Given the description of an element on the screen output the (x, y) to click on. 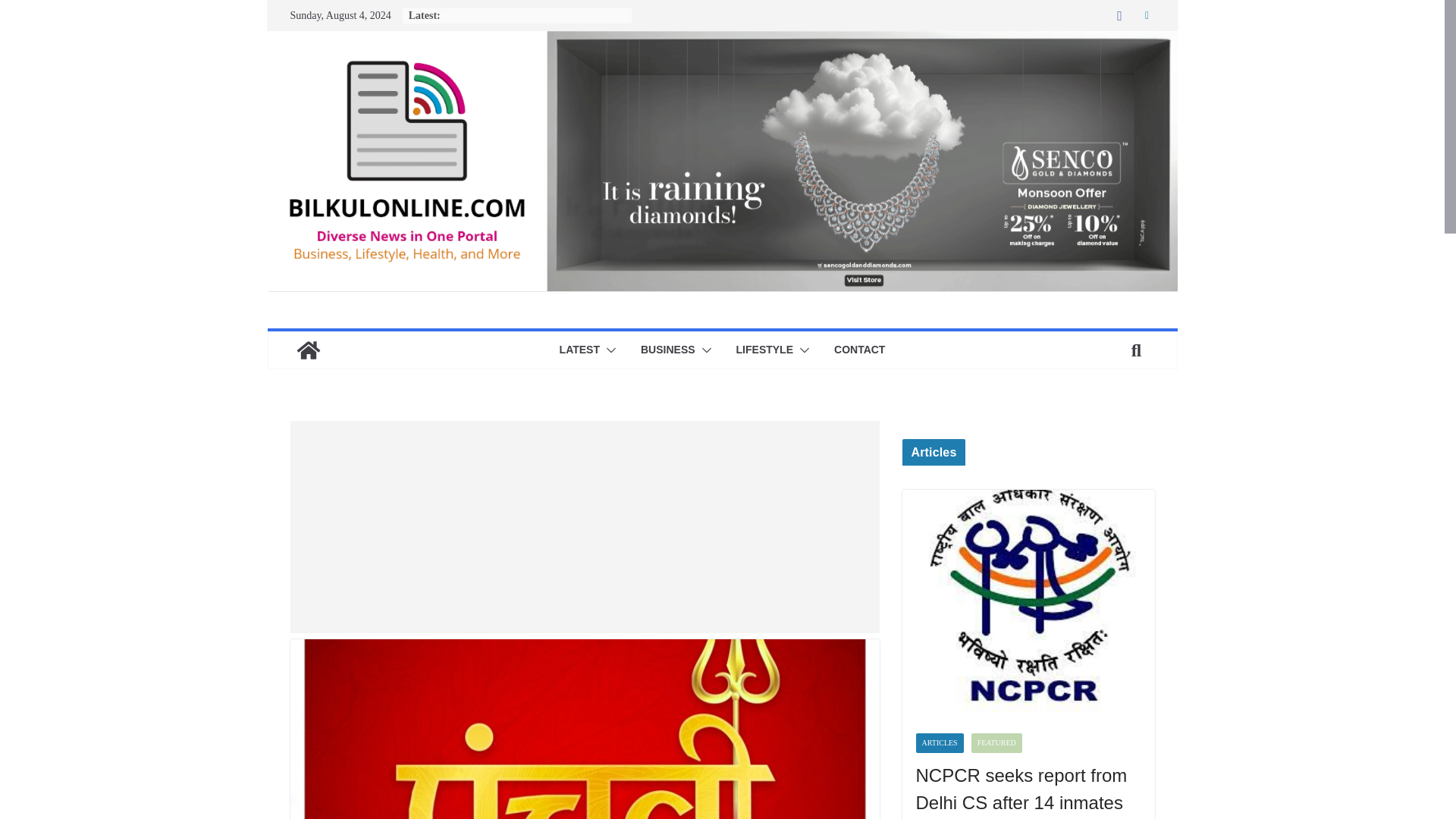
LIFESTYLE (764, 350)
Advertisement (584, 526)
CONTACT (859, 350)
Bilkul Online (721, 41)
LATEST (579, 350)
Bilkul Online (307, 350)
BUSINESS (667, 350)
